Given the description of an element on the screen output the (x, y) to click on. 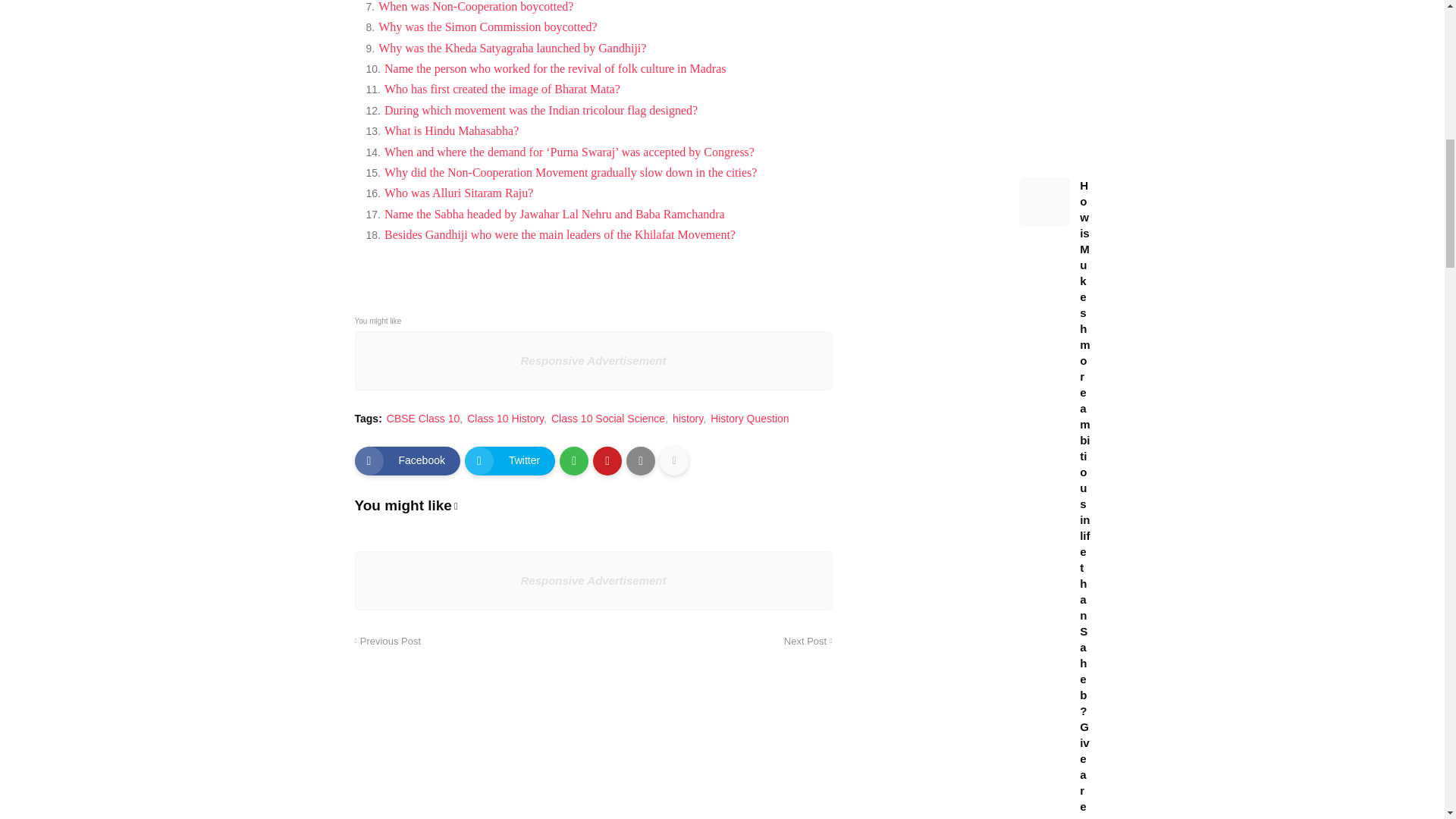
Facebook (407, 460)
When was Non-Cooperation boycotted? (475, 6)
Twitter (509, 460)
